Given the description of an element on the screen output the (x, y) to click on. 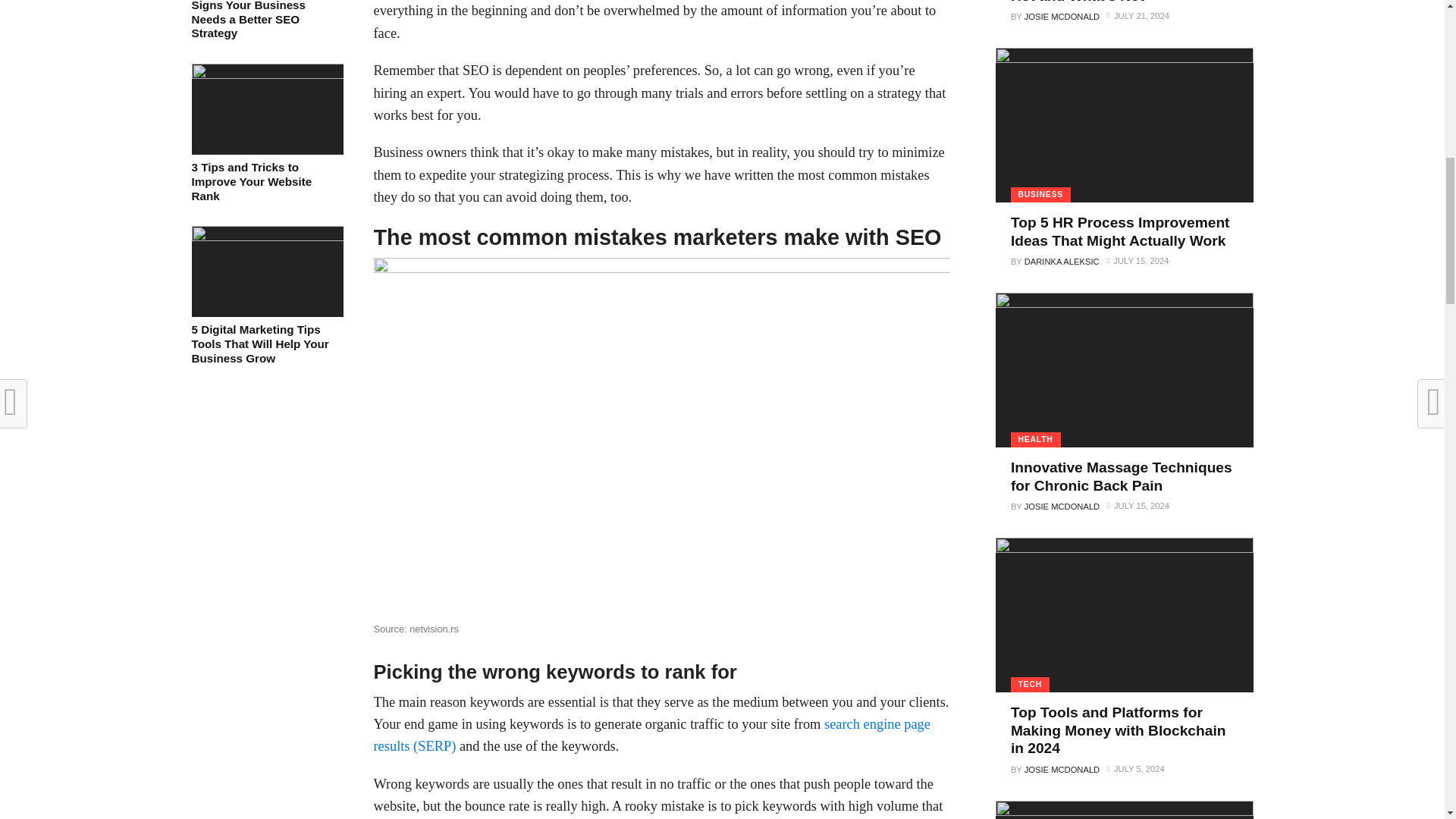
Posts by Josie McDonald (1062, 16)
Signs Your Business Needs a Better SEO Strategy (266, 20)
3 Tips and Tricks to Improve Your Website Rank (266, 181)
3 Tips and Tricks to Improve Your Website Rank (266, 74)
